Given the description of an element on the screen output the (x, y) to click on. 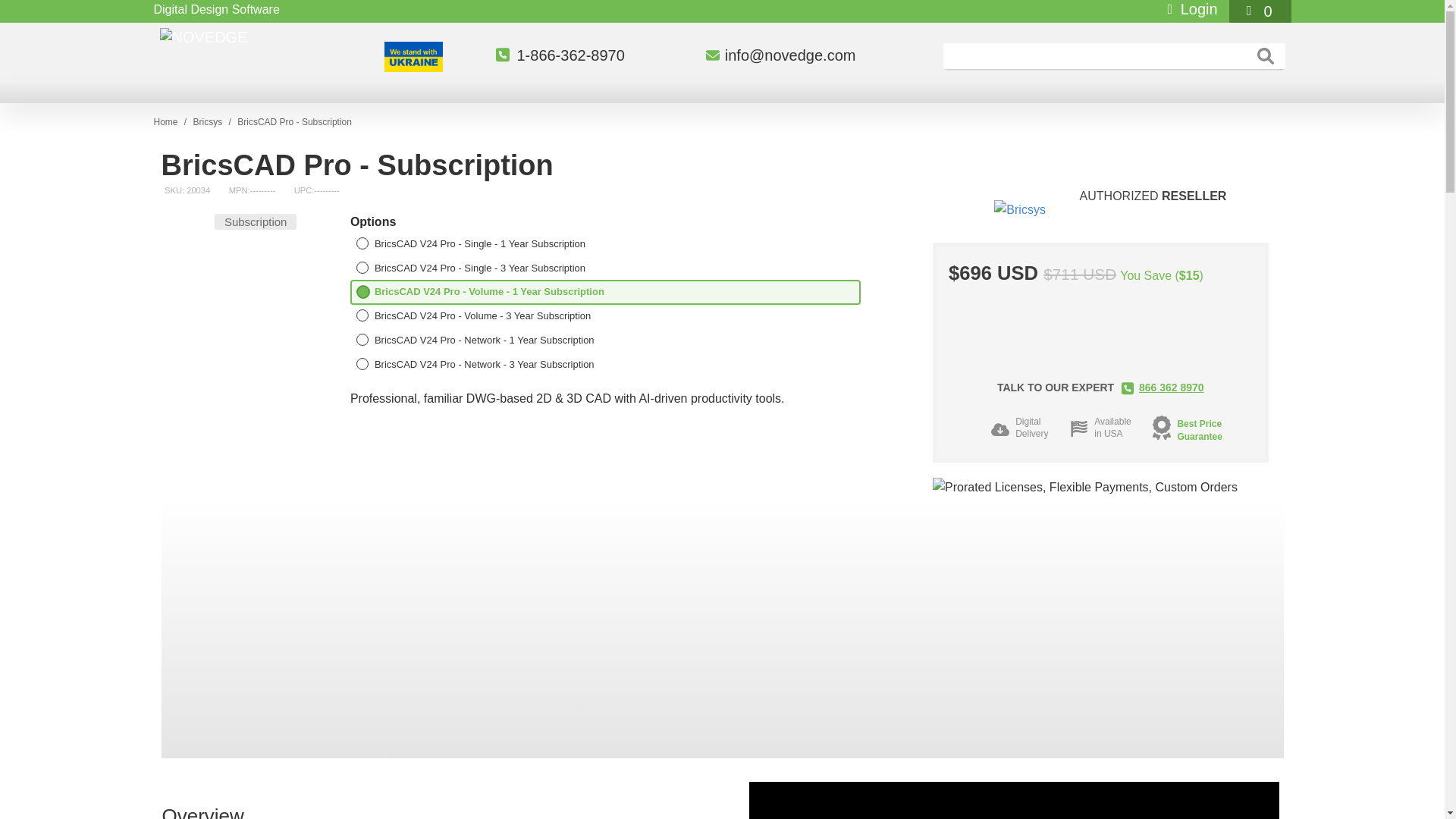
Products (209, 122)
0 (1259, 11)
My Account  (1188, 9)
NOVEDGE (164, 122)
Email NOVEDGE (789, 54)
NOVEDGE (271, 36)
